Given the description of an element on the screen output the (x, y) to click on. 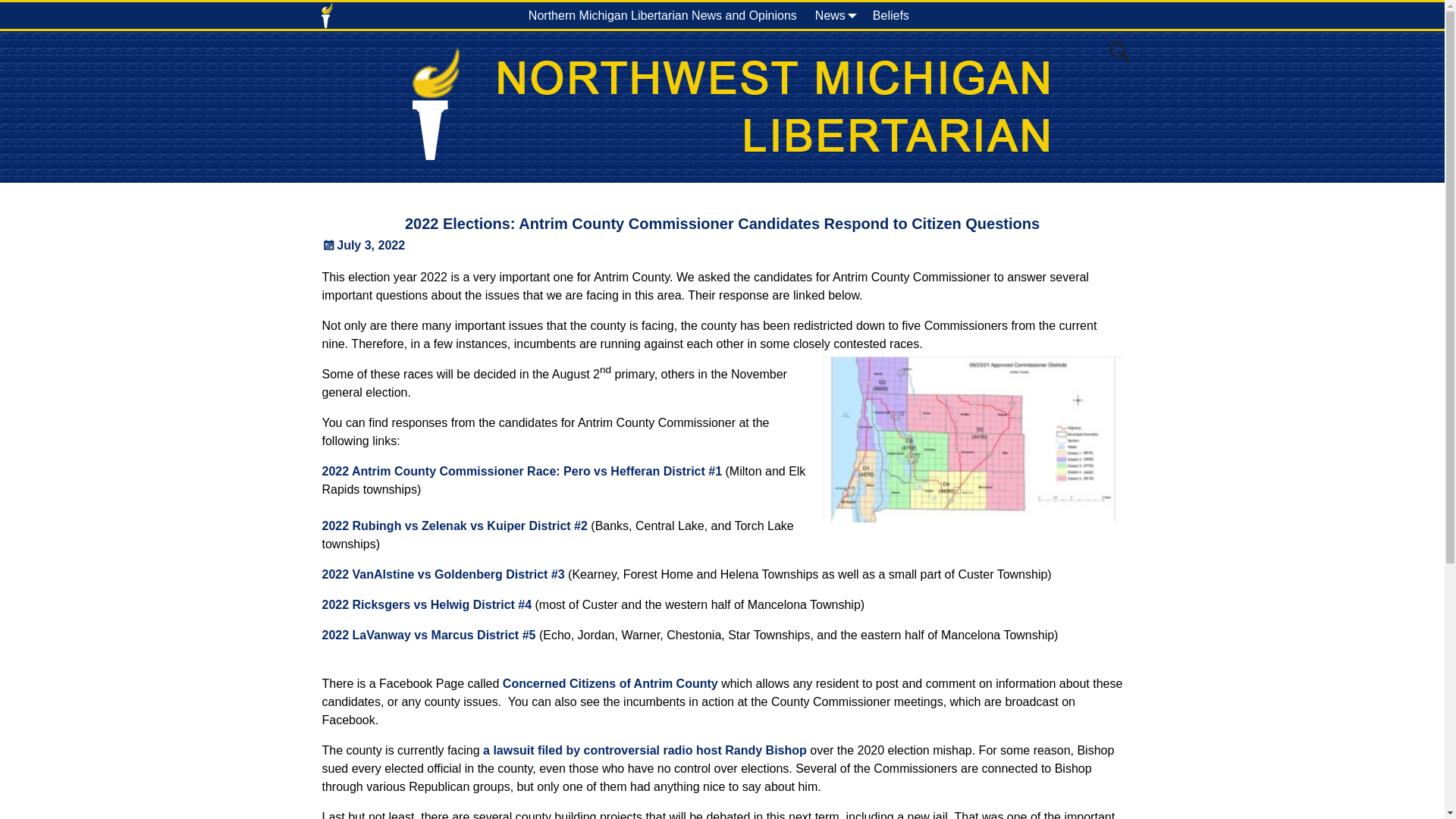
NW Michigan Libertarians Facebook Page (1092, 15)
7:02 pm (362, 245)
Twitter (1111, 15)
Concerned Citizens of Antrim County (609, 683)
July 3, 2022 (362, 245)
Beliefs (890, 15)
a lawsuit filed by controversial radio host Randy Bishop (644, 749)
Northern Michigan Libertarian News and Opinions (662, 15)
News (834, 15)
